Given the description of an element on the screen output the (x, y) to click on. 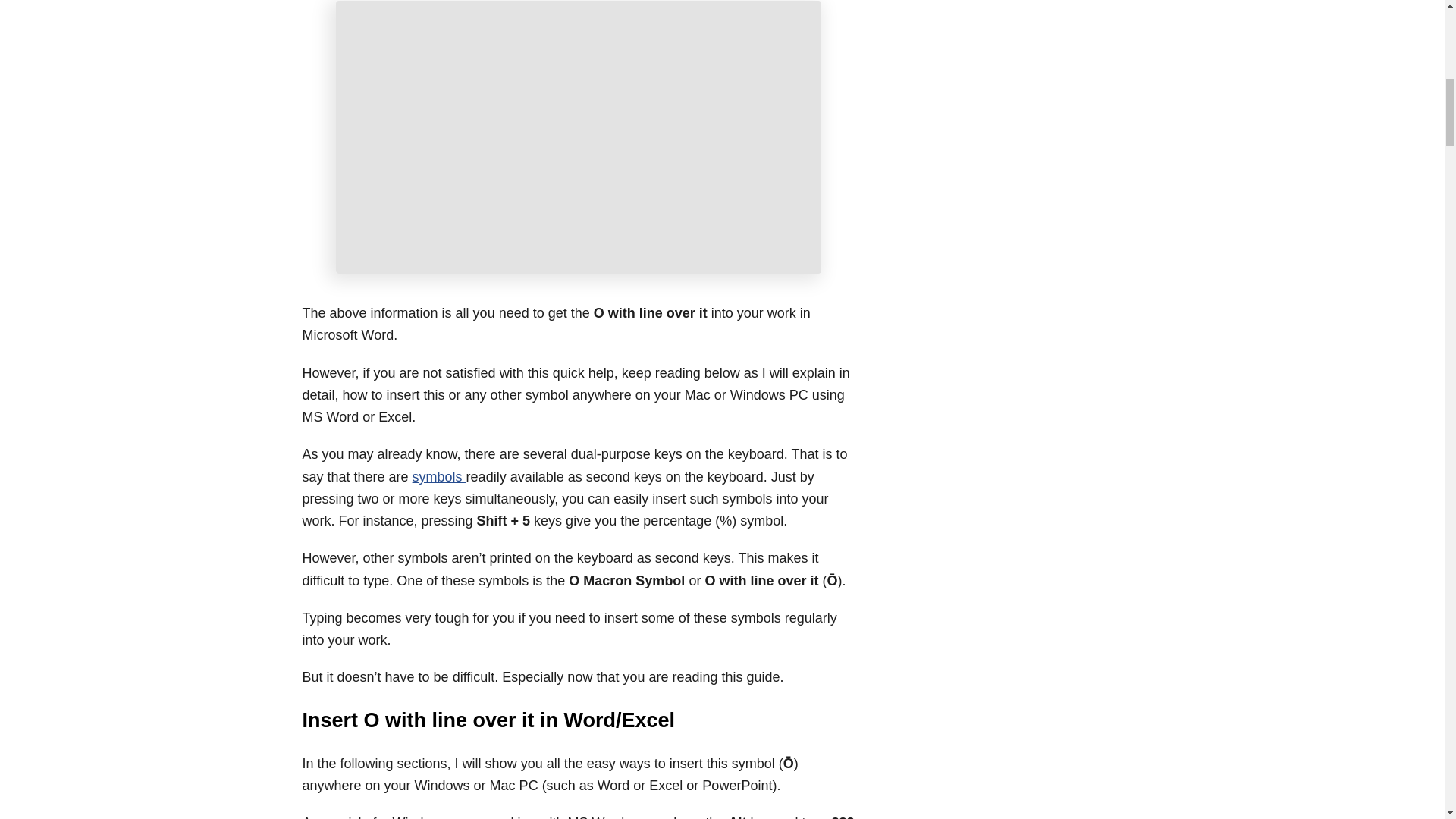
symbols (438, 476)
